Given the description of an element on the screen output the (x, y) to click on. 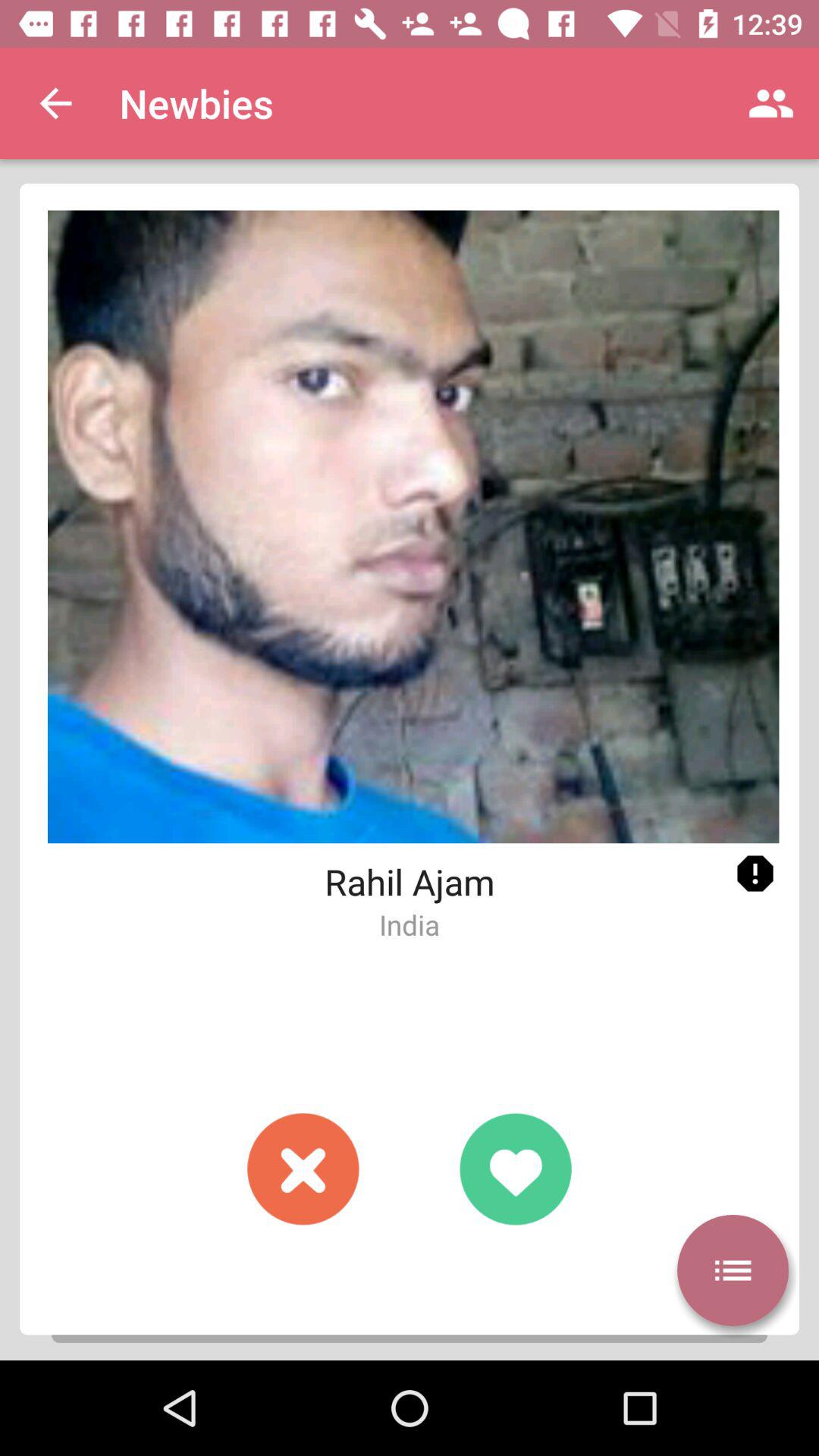
toggle to heart (515, 1169)
